Given the description of an element on the screen output the (x, y) to click on. 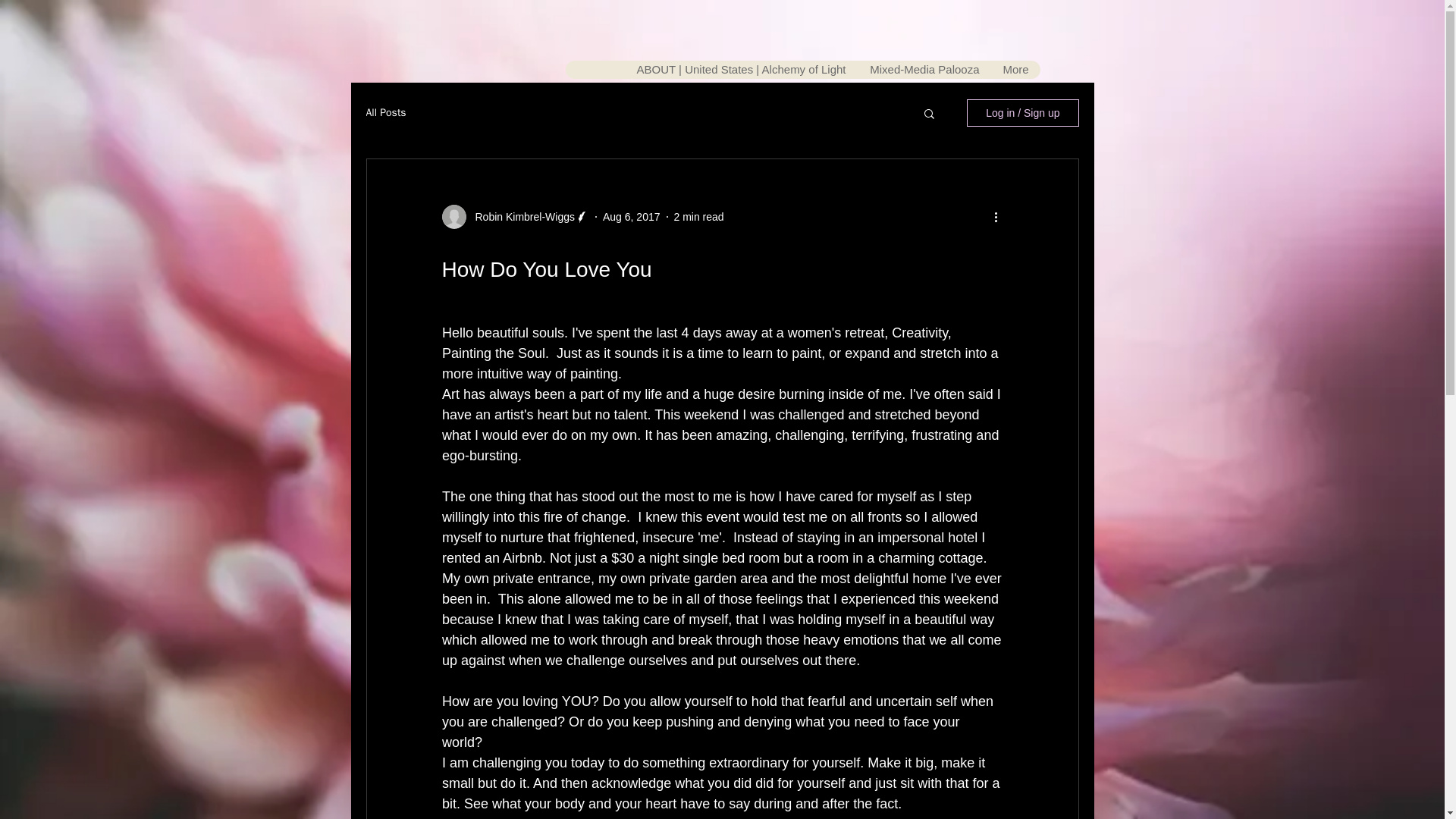
Aug 6, 2017 (631, 216)
Robin Kimbrel-Wiggs (519, 217)
2 min read (697, 216)
All Posts (385, 112)
Mixed-Media Palooza (923, 69)
